Given the description of an element on the screen output the (x, y) to click on. 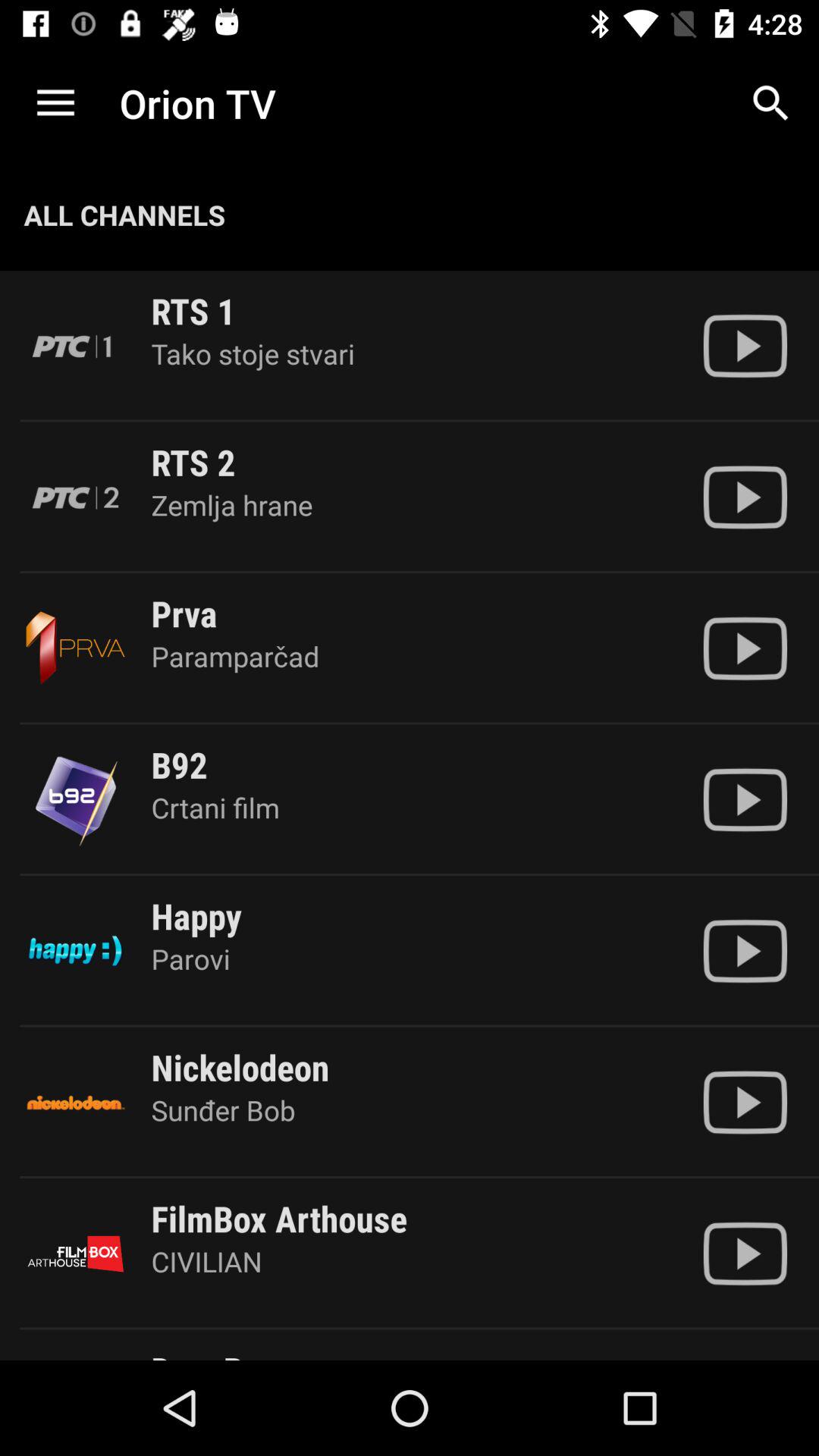
play content (745, 1253)
